Given the description of an element on the screen output the (x, y) to click on. 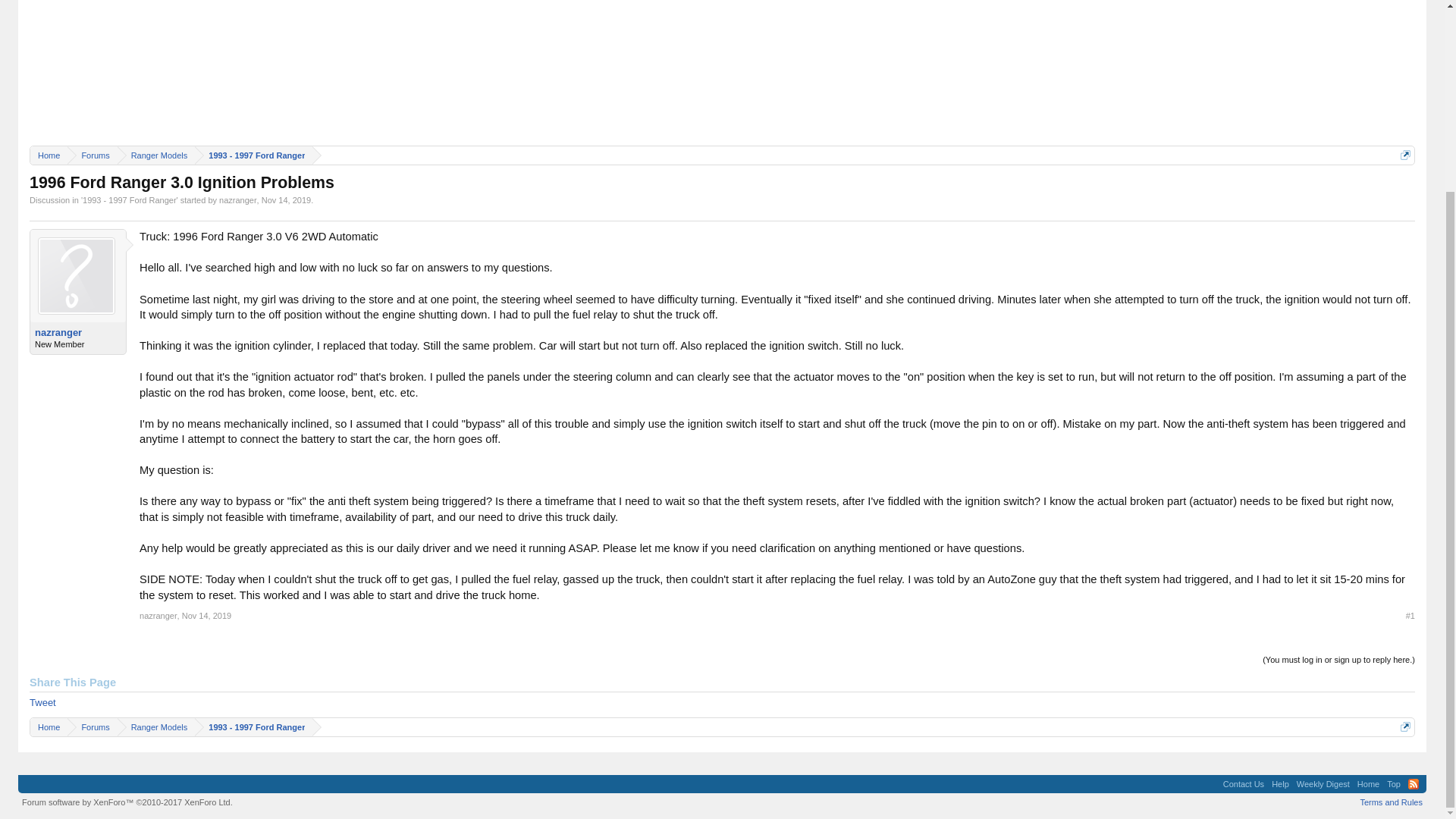
Open quick navigation (1405, 726)
Help (1280, 783)
Home (1368, 783)
Nov 14, 2019 at 8:48 PM (286, 199)
Nov 14, 2019 (206, 614)
Permalink (206, 614)
Forums (91, 727)
Tweet (42, 702)
Advertisement (721, 69)
nazranger (238, 199)
